Given the description of an element on the screen output the (x, y) to click on. 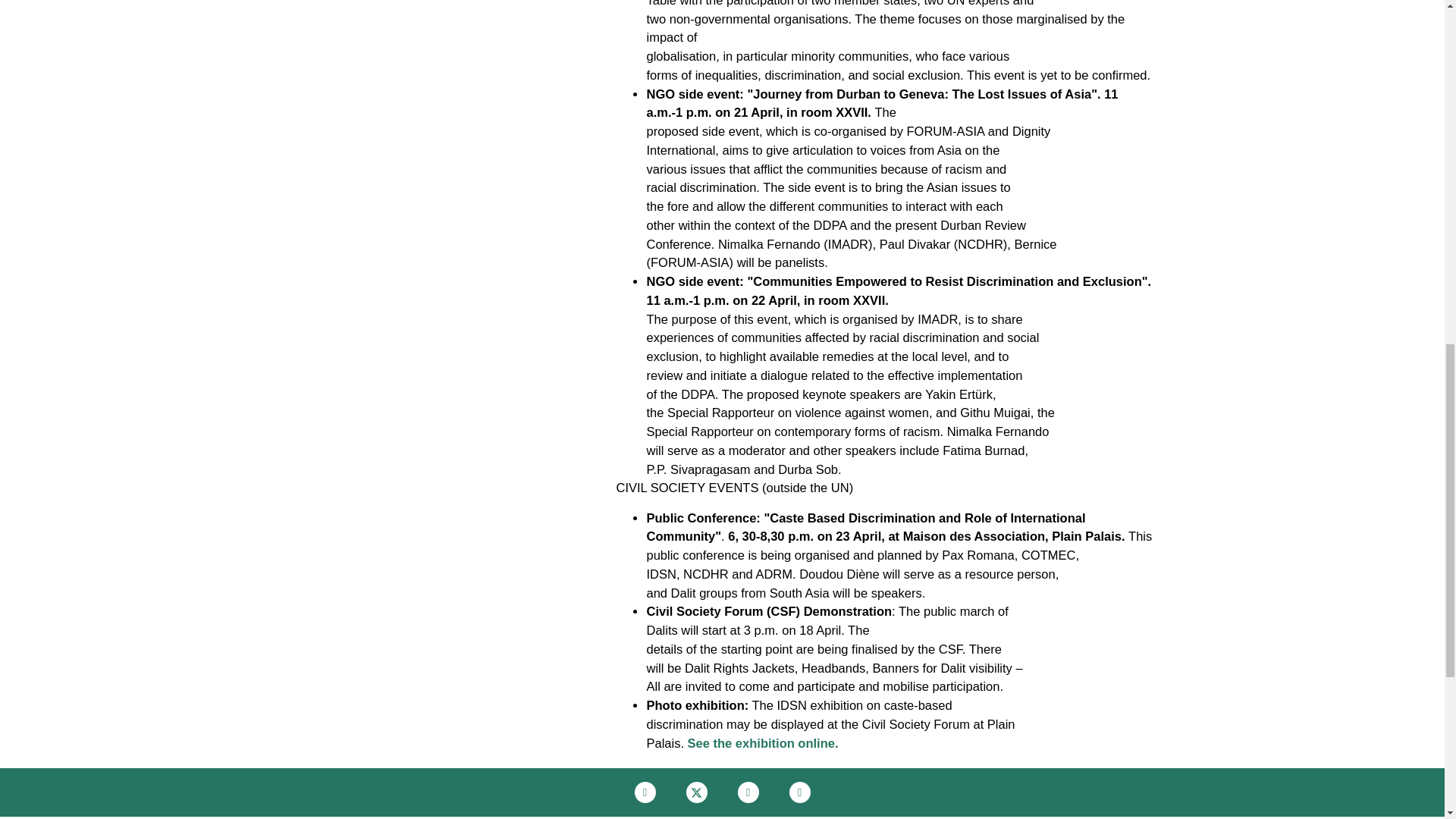
Opens external link in new window (762, 743)
